Given the description of an element on the screen output the (x, y) to click on. 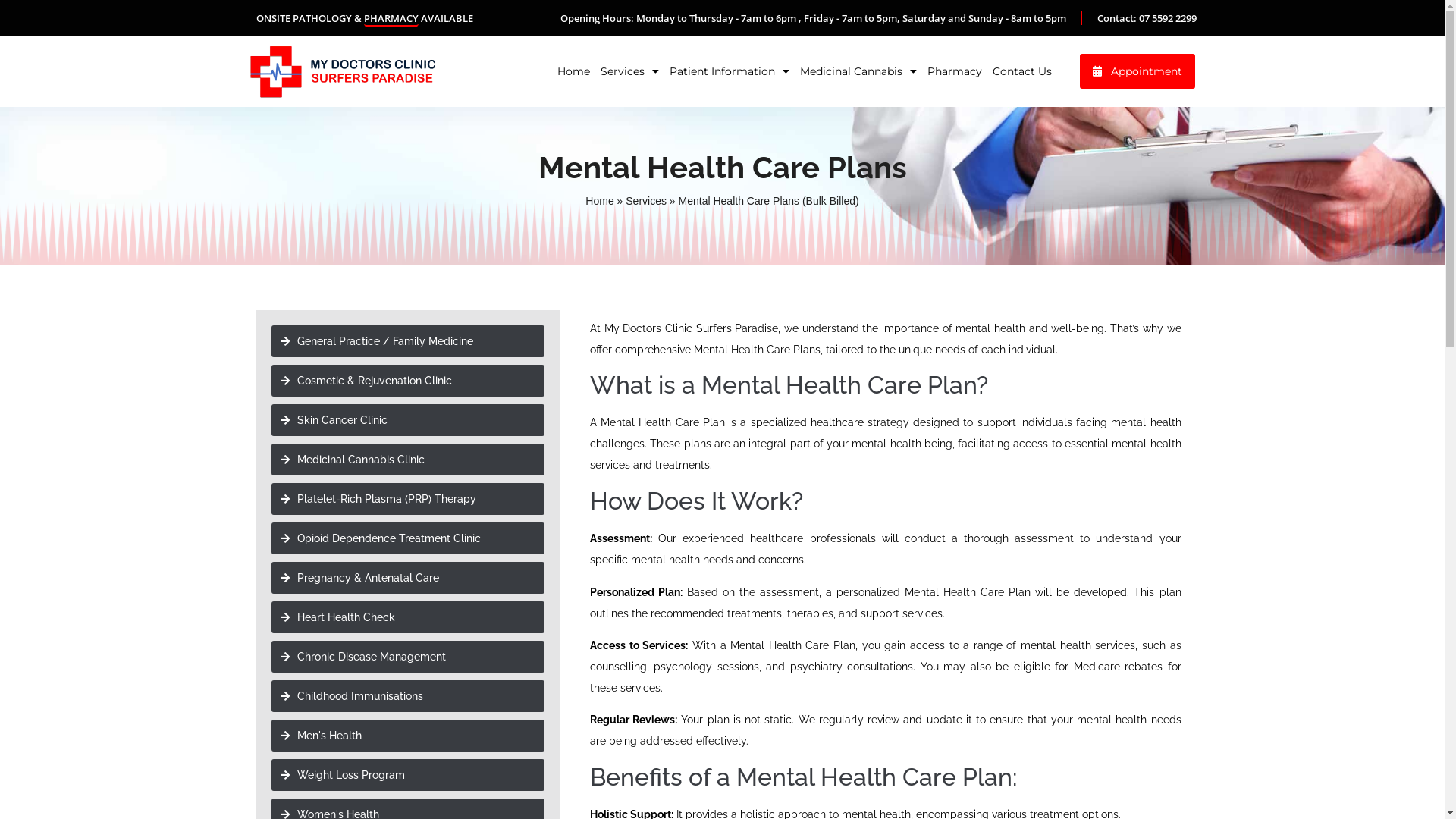
Heart Health Check Element type: text (408, 616)
Skin Cancer Clinic Element type: text (408, 419)
Home Element type: text (573, 70)
Platelet-Rich Plasma (PRP) Therapy Element type: text (408, 498)
PHARMACY Element type: text (391, 19)
Services Element type: text (645, 200)
Patient Information Element type: text (729, 70)
Men's Health Element type: text (408, 735)
Pregnancy & Antenatal Care Element type: text (408, 577)
Weight Loss Program Element type: text (408, 774)
Cosmetic & Rejuvenation Clinic Element type: text (408, 380)
Contact: 07 5592 2299 Element type: text (1145, 17)
Medicinal Cannabis Clinic Element type: text (408, 459)
Services Element type: text (629, 70)
Chronic Disease Management Element type: text (408, 656)
   Appointment Element type: text (1137, 70)
Opioid Dependence Treatment Clinic Element type: text (408, 538)
Medicinal Cannabis Element type: text (858, 70)
Pharmacy Element type: text (954, 70)
Childhood Immunisations Element type: text (408, 695)
Home Element type: text (599, 200)
General Practice / Family Medicine Element type: text (408, 340)
Contact Us Element type: text (1022, 70)
